Given the description of an element on the screen output the (x, y) to click on. 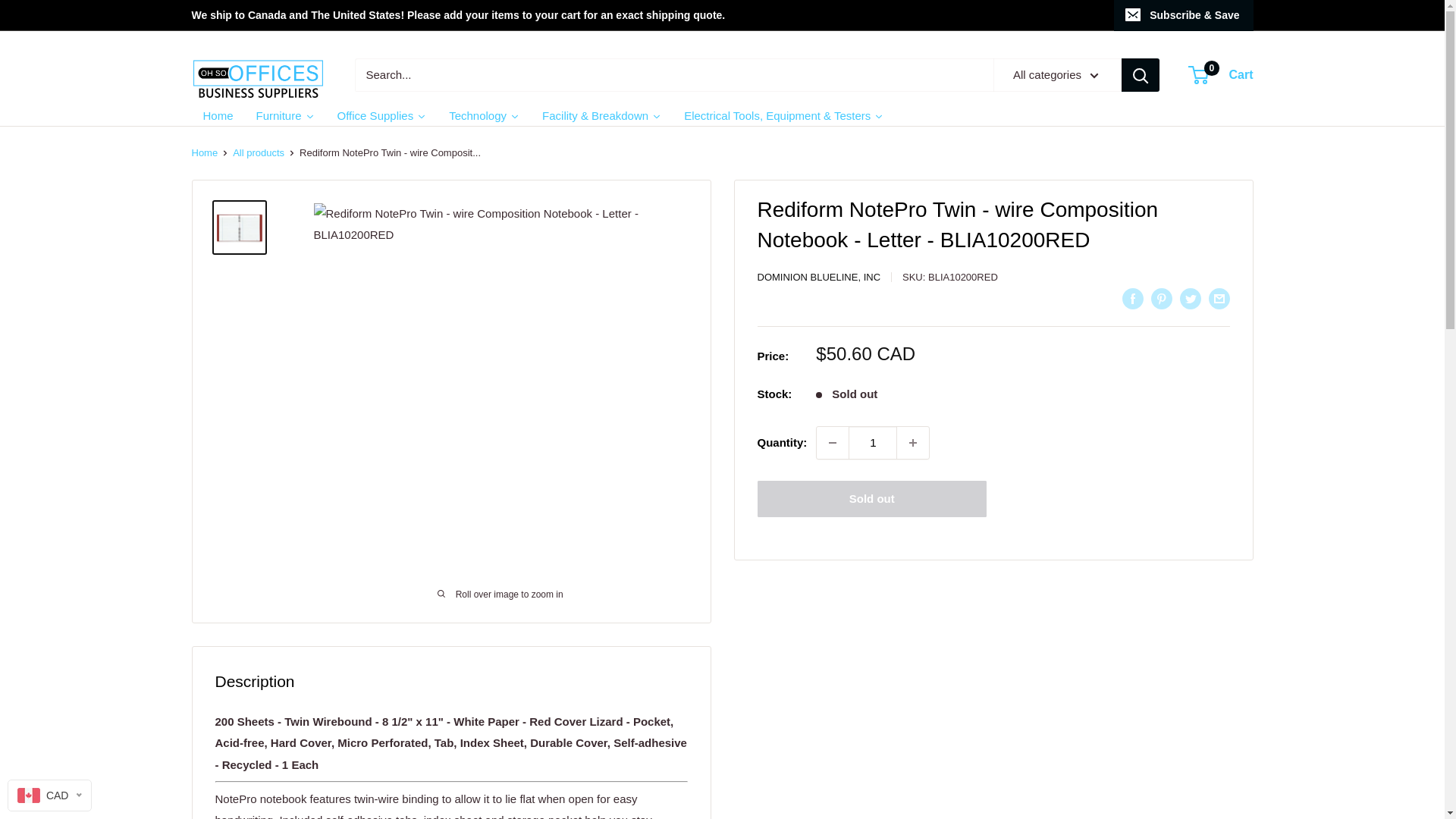
Office Supplies (382, 115)
1 (872, 442)
Furniture  (285, 115)
Decrease quantity by 1 (832, 442)
All products (257, 152)
Home (217, 115)
Technology (484, 115)
Furniture (285, 115)
Technology (484, 115)
